Given the description of an element on the screen output the (x, y) to click on. 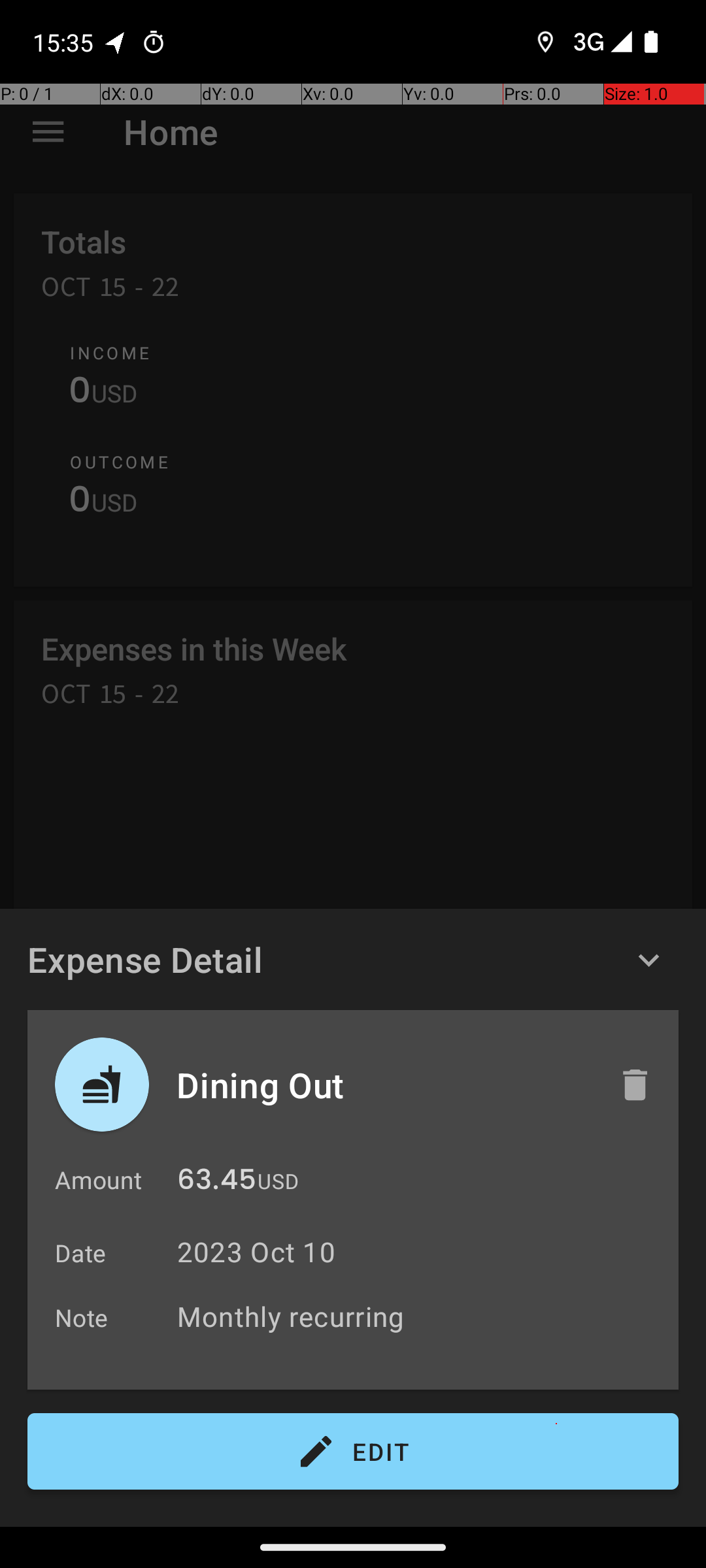
Dining Out Element type: android.widget.TextView (383, 1084)
63.45 Element type: android.widget.TextView (216, 1182)
